Given the description of an element on the screen output the (x, y) to click on. 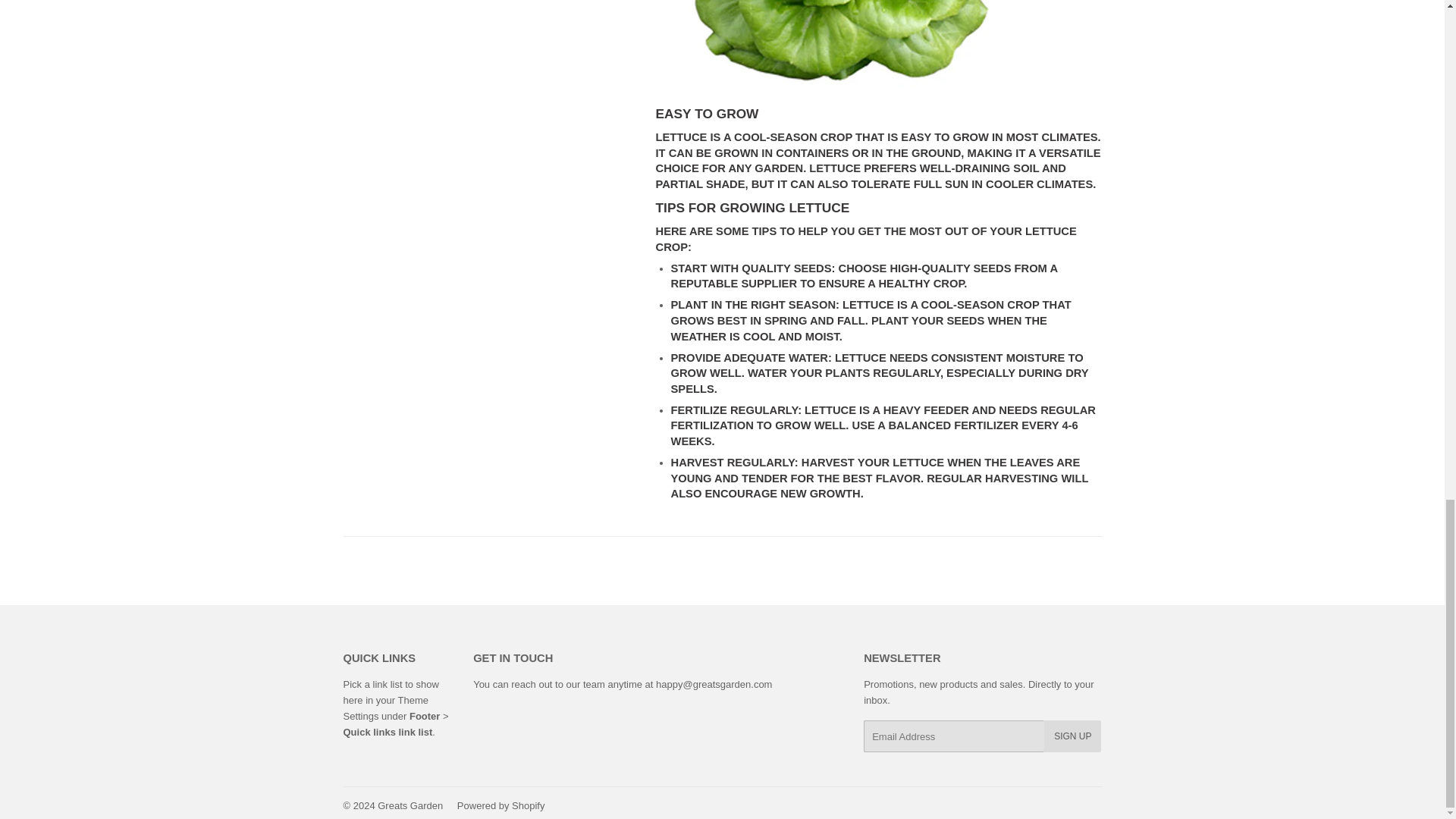
SIGN UP (1071, 736)
Greats Garden (409, 805)
Powered by Shopify (500, 805)
Theme Settings (385, 707)
